Given the description of an element on the screen output the (x, y) to click on. 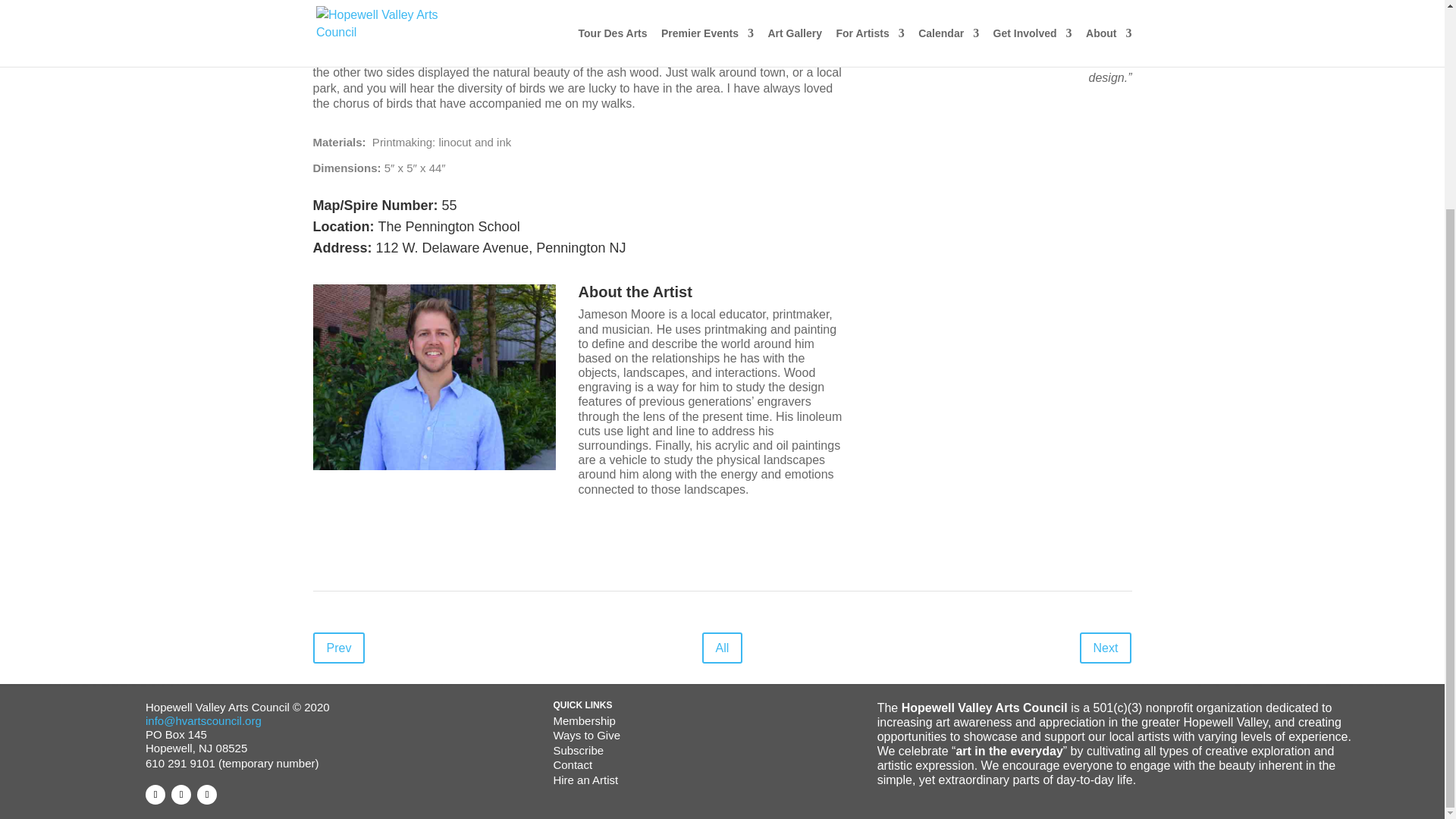
Follow on Facebook (155, 794)
Follow on X (180, 794)
Follow on Instagram (206, 794)
